Given the description of an element on the screen output the (x, y) to click on. 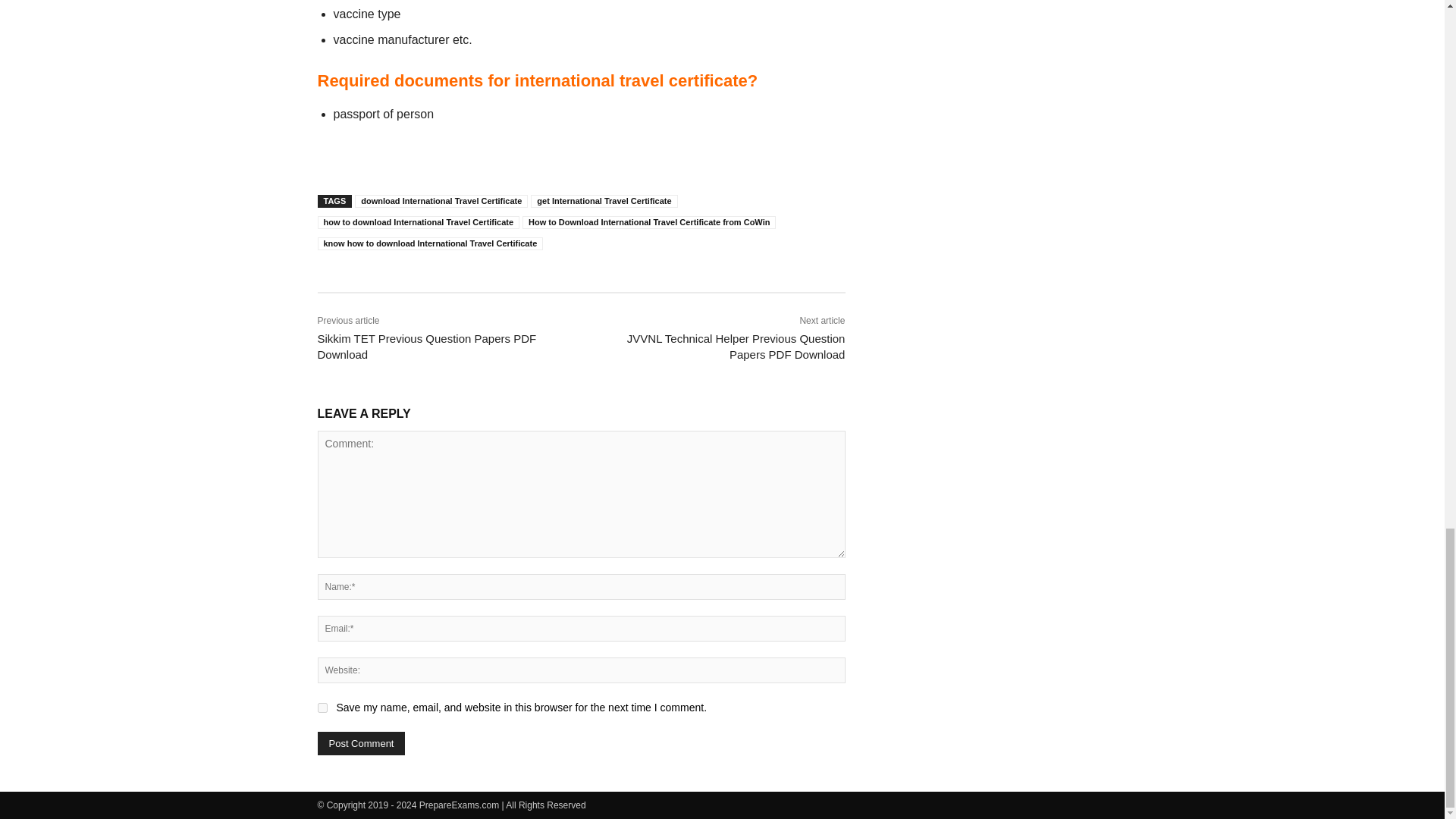
yes (321, 707)
Post Comment (360, 743)
